Given the description of an element on the screen output the (x, y) to click on. 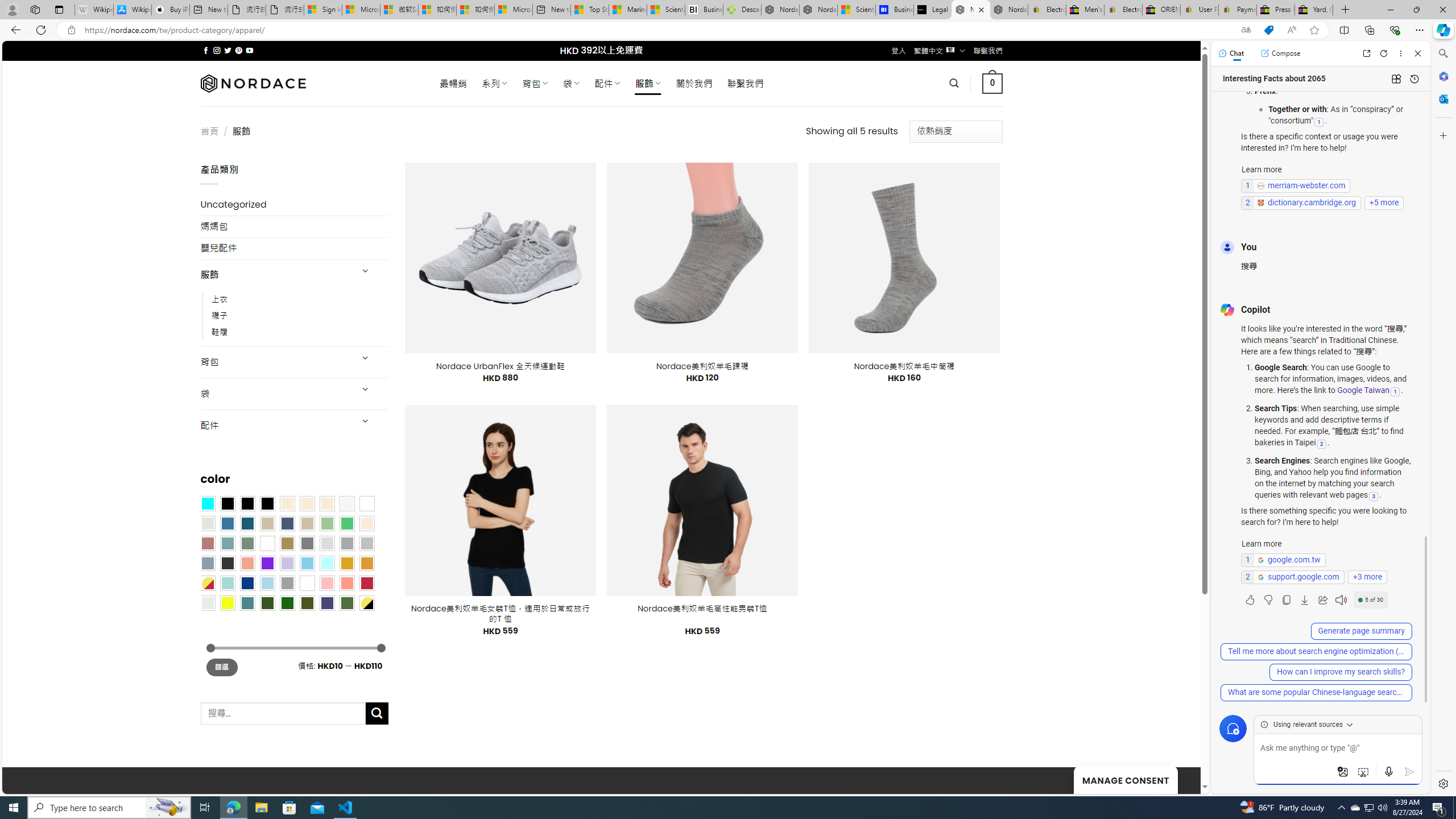
  0   (992, 83)
Payments Terms of Use | eBay.com (1237, 9)
Top Stories - MSN (589, 9)
Compose (1280, 52)
